Given the description of an element on the screen output the (x, y) to click on. 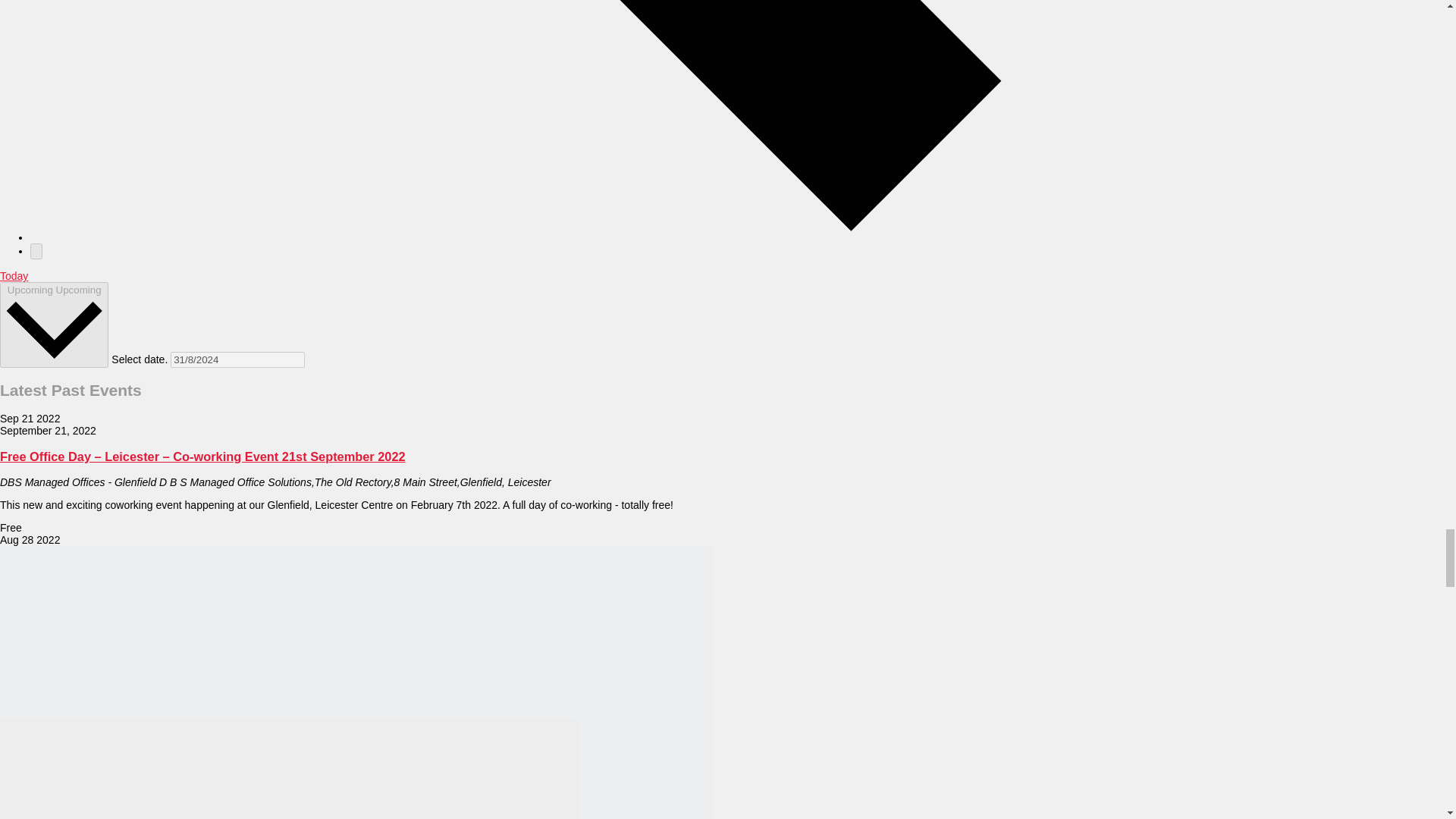
Click to toggle datepicker (53, 324)
Click to select today's date (13, 275)
Previous Events (530, 236)
Upcoming Upcoming (53, 324)
Today (13, 275)
